Given the description of an element on the screen output the (x, y) to click on. 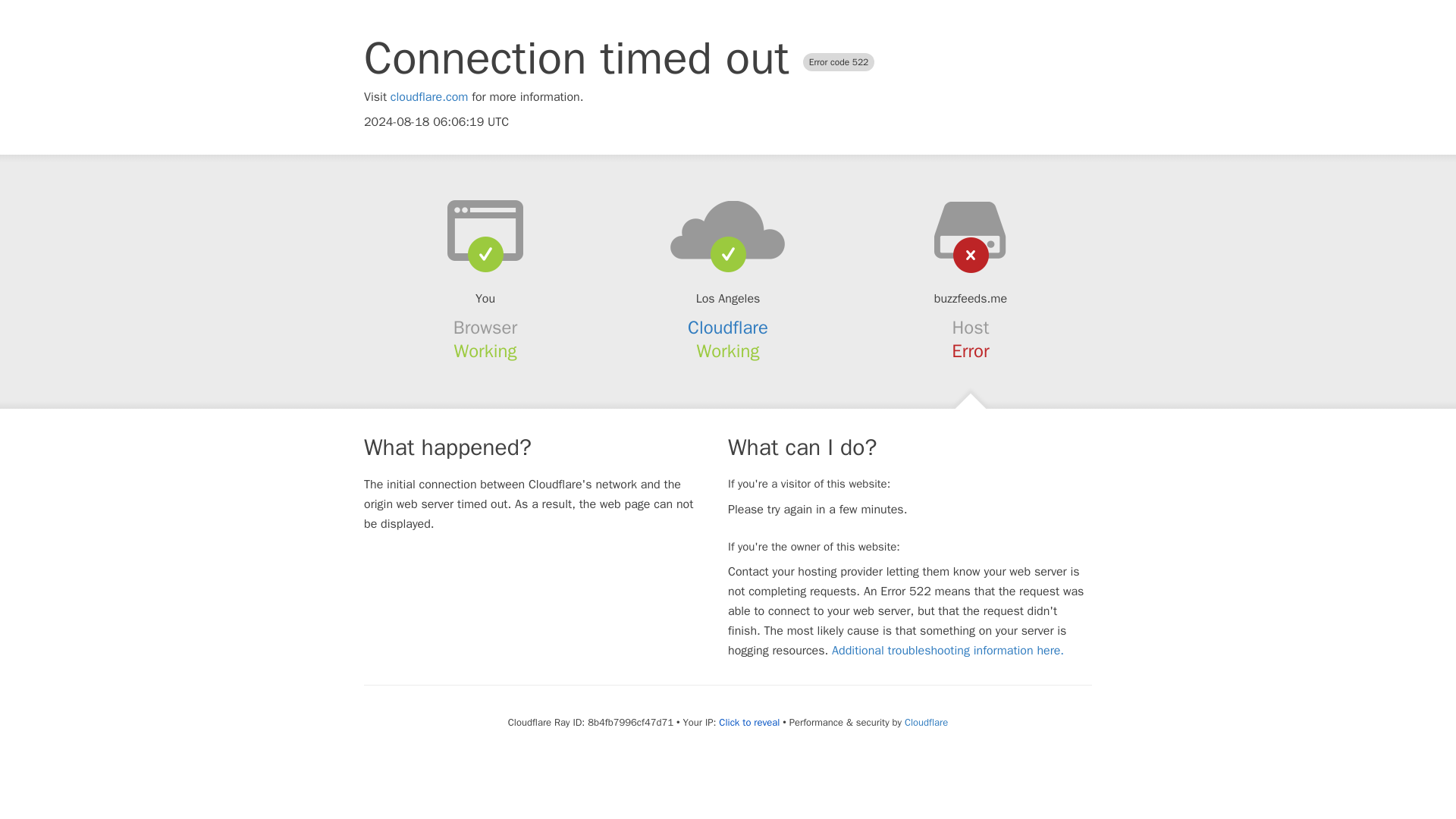
Cloudflare (925, 721)
cloudflare.com (429, 96)
Click to reveal (748, 722)
Additional troubleshooting information here. (947, 650)
Cloudflare (727, 327)
